Given the description of an element on the screen output the (x, y) to click on. 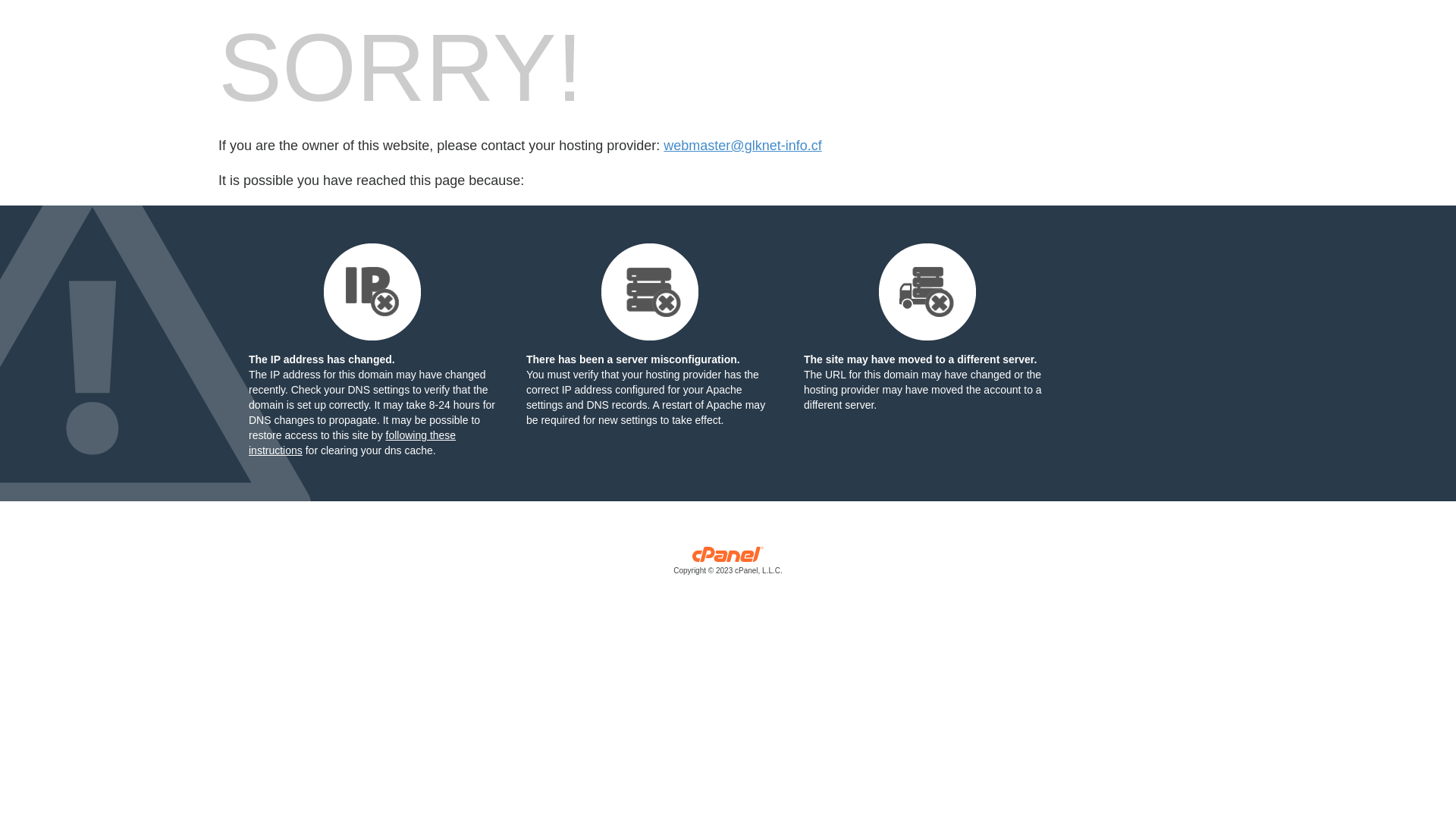
webmaster@glknet-info.cf Element type: text (742, 145)
following these instructions Element type: text (351, 442)
